Given the description of an element on the screen output the (x, y) to click on. 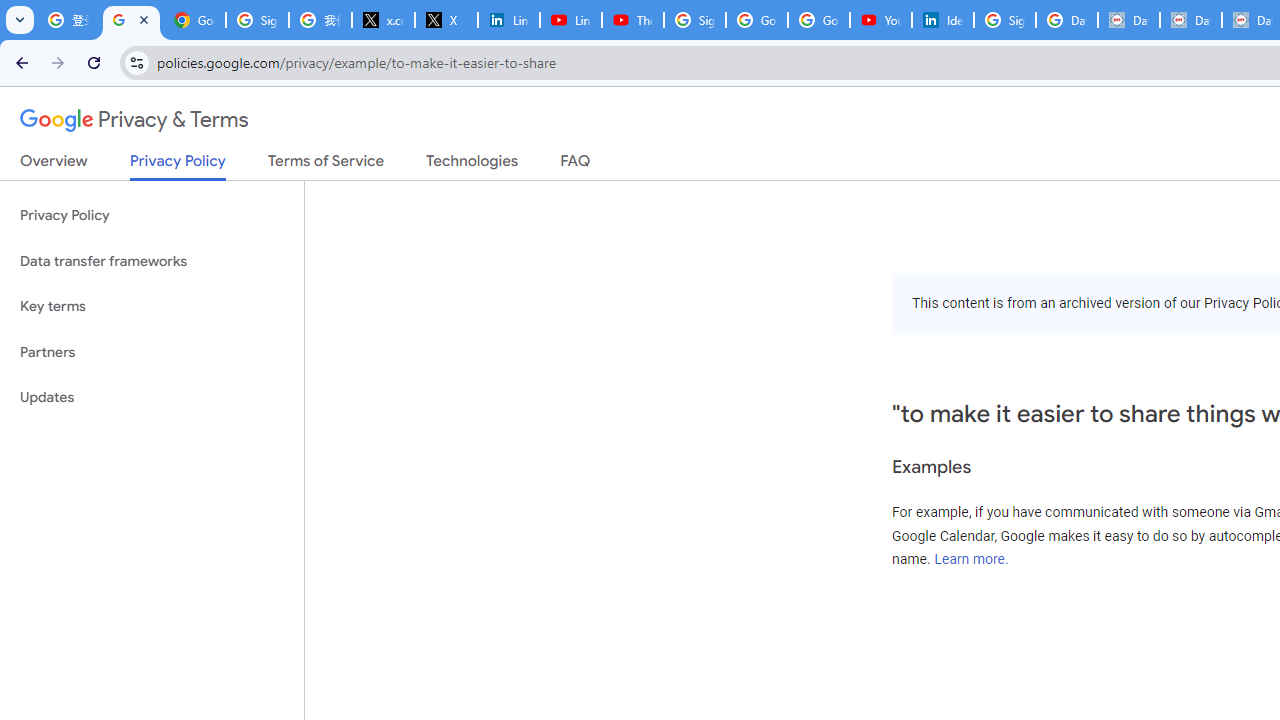
LinkedIn - YouTube (570, 20)
Sign in - Google Accounts (694, 20)
Partners (152, 352)
Updates (152, 398)
Sign in - Google Accounts (1004, 20)
Privacy & Terms (134, 120)
X (445, 20)
